Given the description of an element on the screen output the (x, y) to click on. 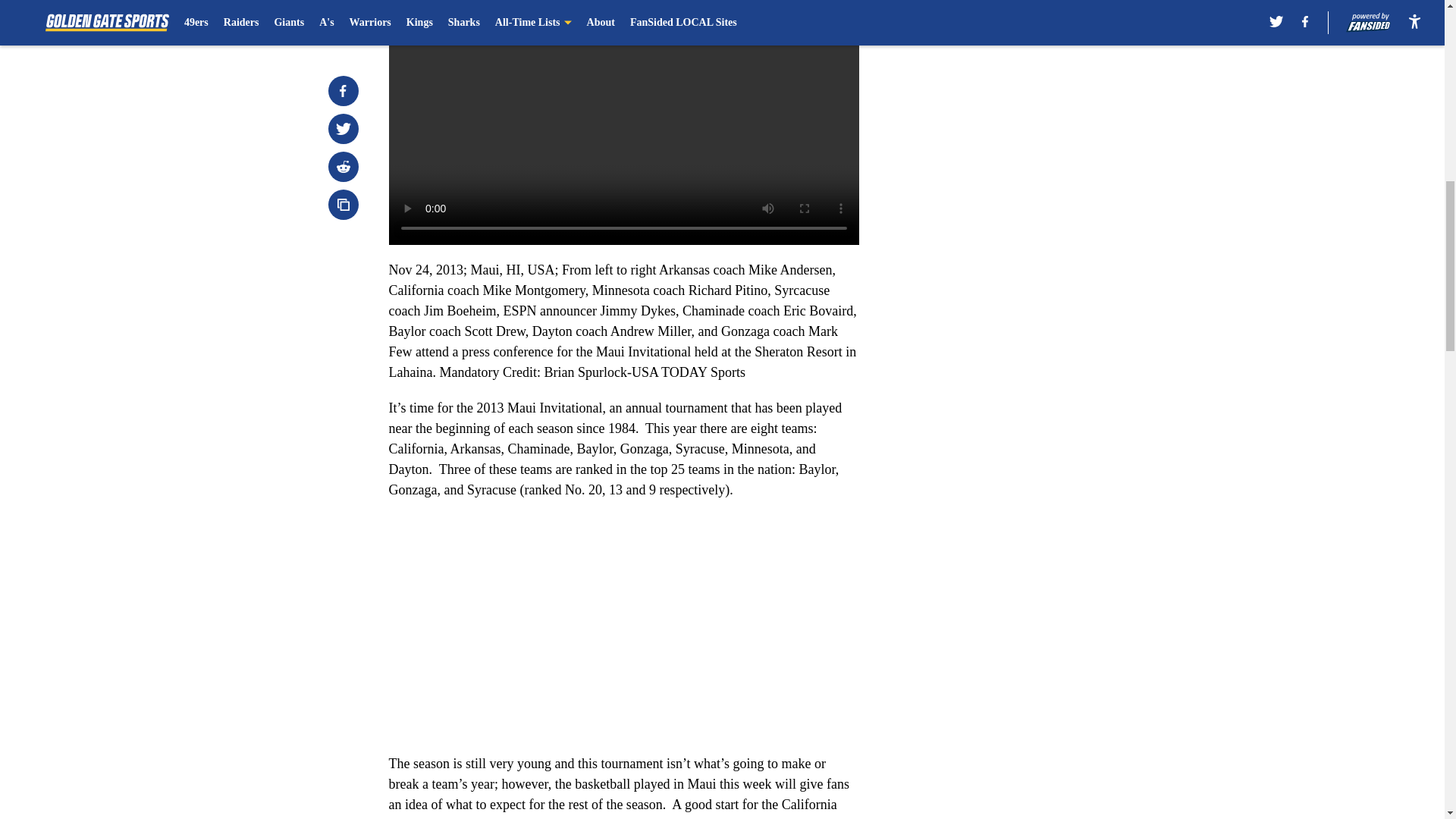
3rd party ad content (1047, 294)
3rd party ad content (1047, 84)
